Given the description of an element on the screen output the (x, y) to click on. 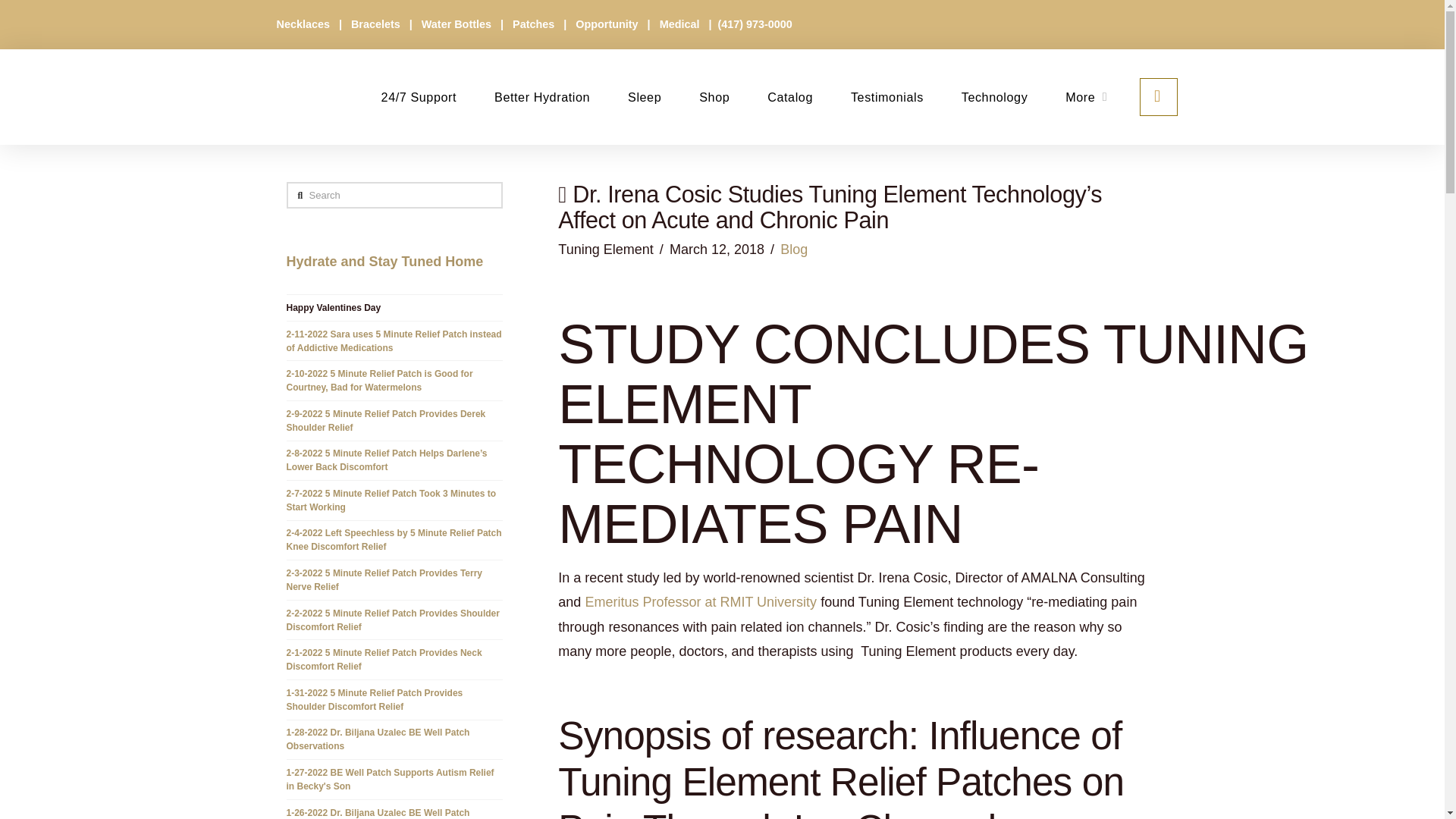
2-3-2022 5 Minute Relief Patch Provides Terry Nerve Relief (384, 580)
Technology (994, 96)
1-28-2022 Dr. Biljana Uzalec BE Well Patch Observations (378, 739)
Better Hydration (542, 96)
Hydrate and Stay Tuned Home (384, 261)
Water Bottles (458, 24)
Opportunity (607, 24)
Shop (713, 96)
Catalog (789, 96)
Patches (534, 24)
Blog (794, 249)
